Given the description of an element on the screen output the (x, y) to click on. 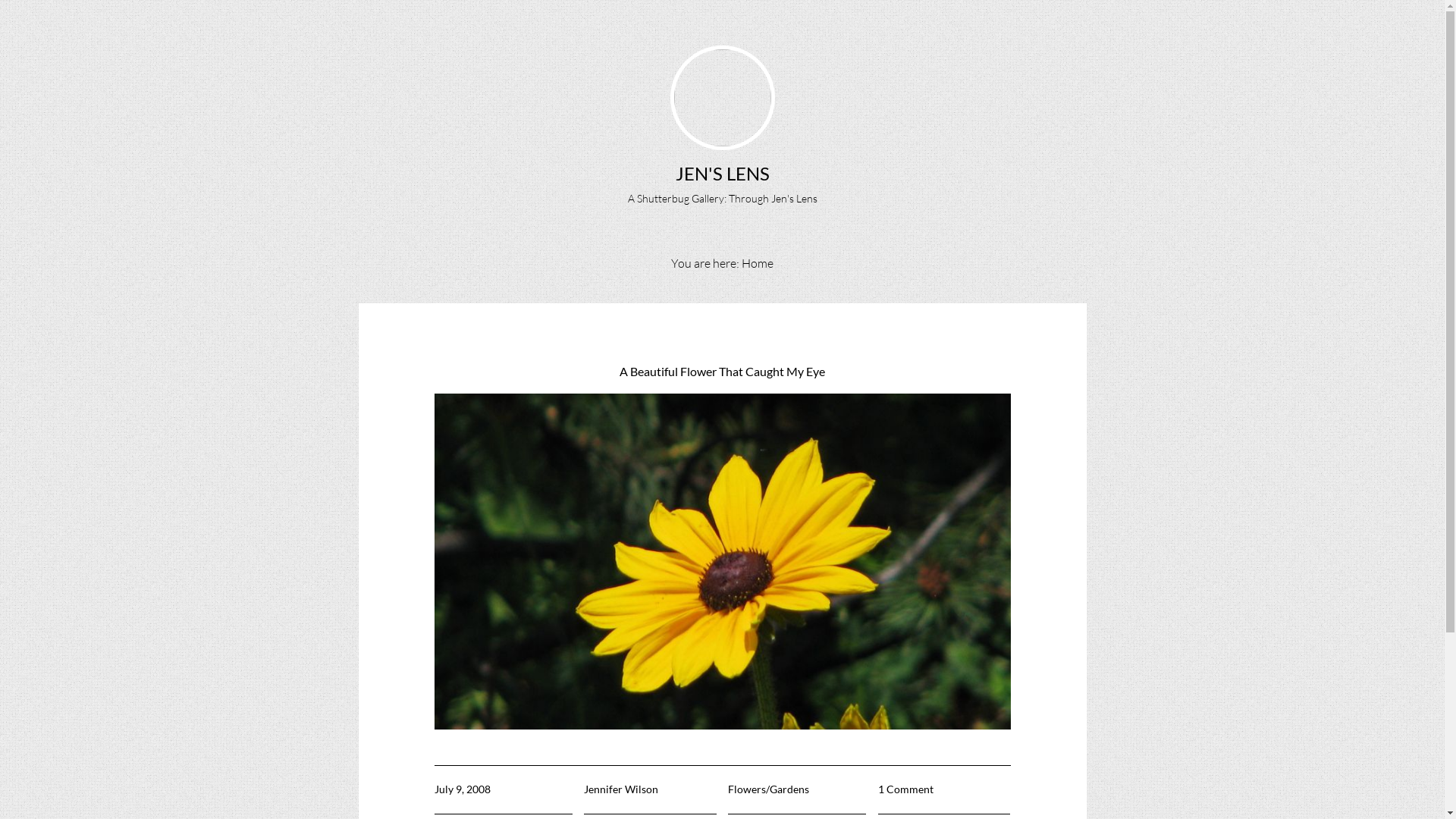
A Beautiful Flower That Caught My Eye Element type: text (722, 371)
1 Comment Element type: text (905, 788)
Flowers/Gardens Element type: text (768, 788)
Jennifer Wilson Element type: text (620, 788)
JEN'S LENS Element type: text (721, 173)
